Given the description of an element on the screen output the (x, y) to click on. 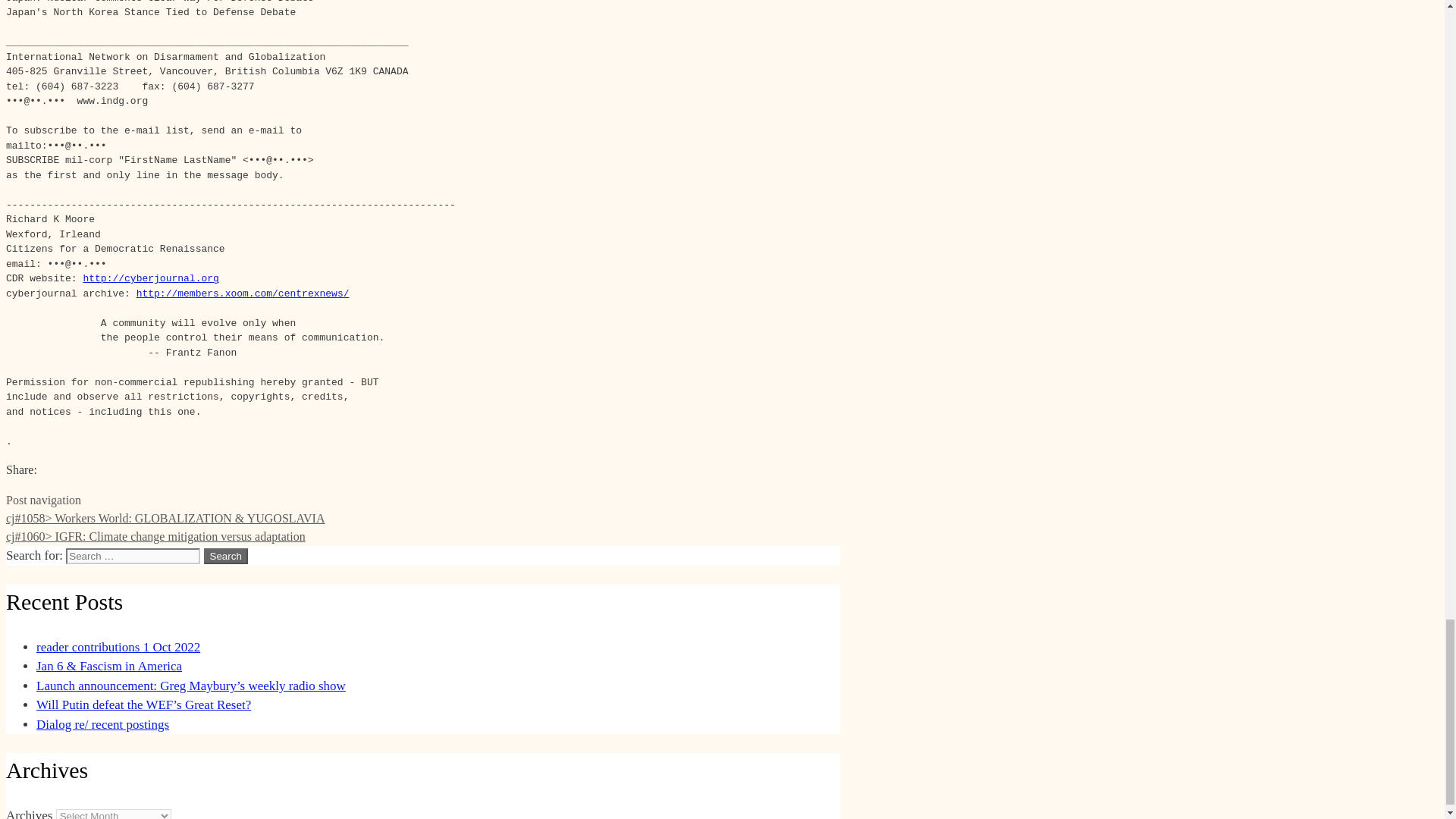
Search (225, 555)
Search (225, 555)
Previous (164, 517)
reader contributions 1 Oct 2022 (118, 646)
Next (155, 535)
Search for: (132, 555)
Search (225, 555)
